Given the description of an element on the screen output the (x, y) to click on. 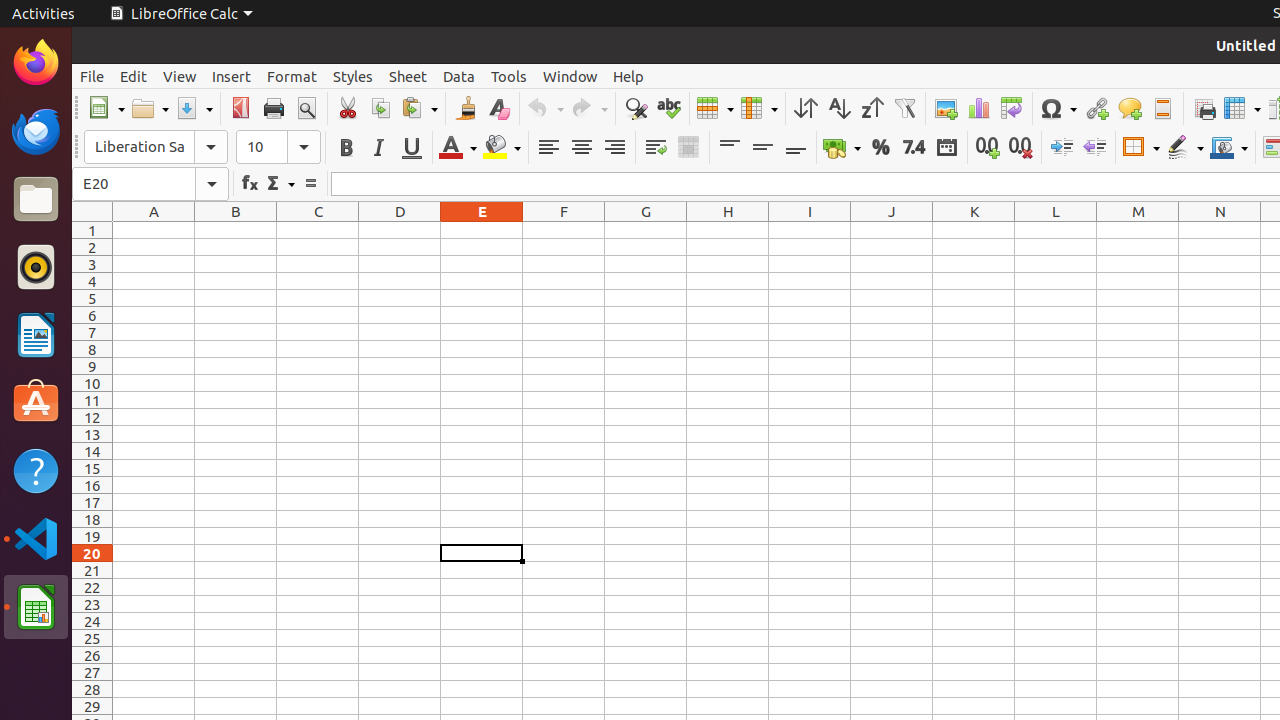
Files Element type: push-button (36, 199)
Formula Element type: push-button (310, 183)
Underline Element type: push-button (411, 147)
Sort Ascending Element type: push-button (838, 108)
LibreOffice Calc Element type: menu (181, 13)
